Given the description of an element on the screen output the (x, y) to click on. 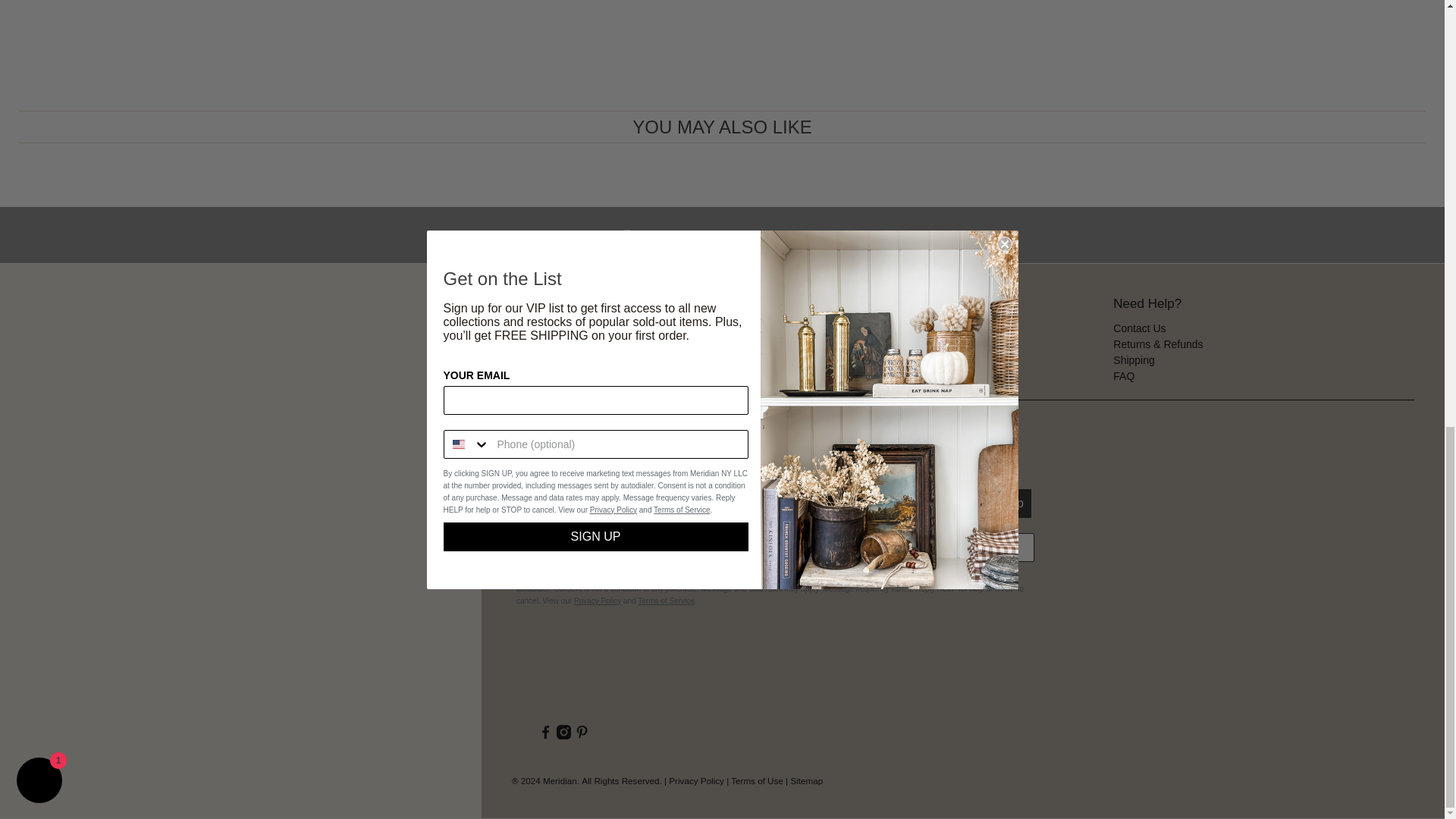
Sitemap (806, 780)
Privacy Policy (695, 780)
Meridian on Instagram (563, 735)
United States (531, 547)
Terms of Use (756, 780)
Meridian (569, 669)
Meridian on Facebook (545, 735)
Meridian on Pinterest (582, 735)
